Given the description of an element on the screen output the (x, y) to click on. 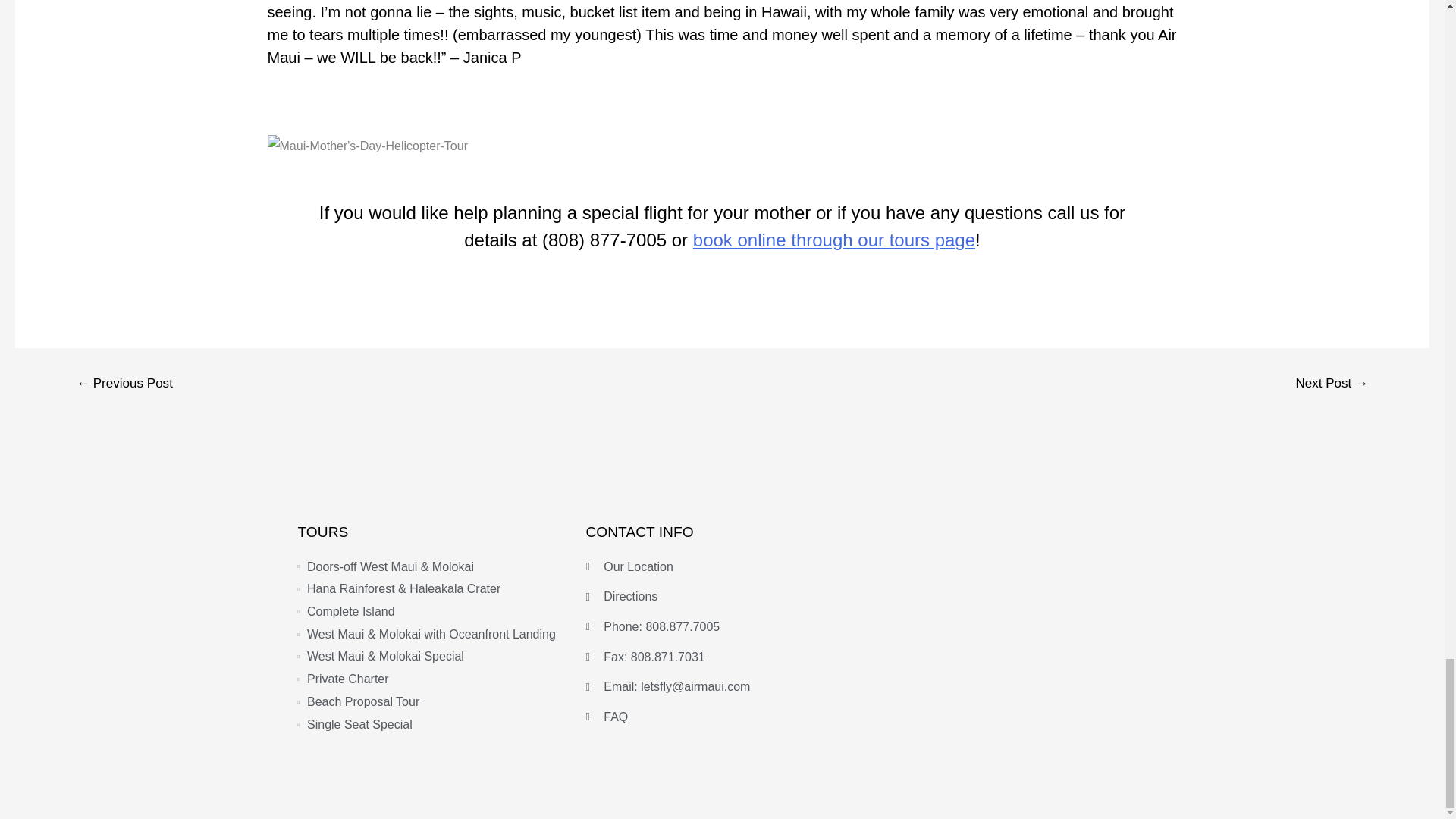
Directions (722, 596)
Phone: 808.877.7005 (722, 626)
Complete Island (433, 611)
Beach Proposal Tour (433, 702)
Single Seat Special (433, 724)
FAQ (722, 716)
Our Location (722, 567)
Private Charter (433, 679)
book online through our tours page (834, 240)
